Given the description of an element on the screen output the (x, y) to click on. 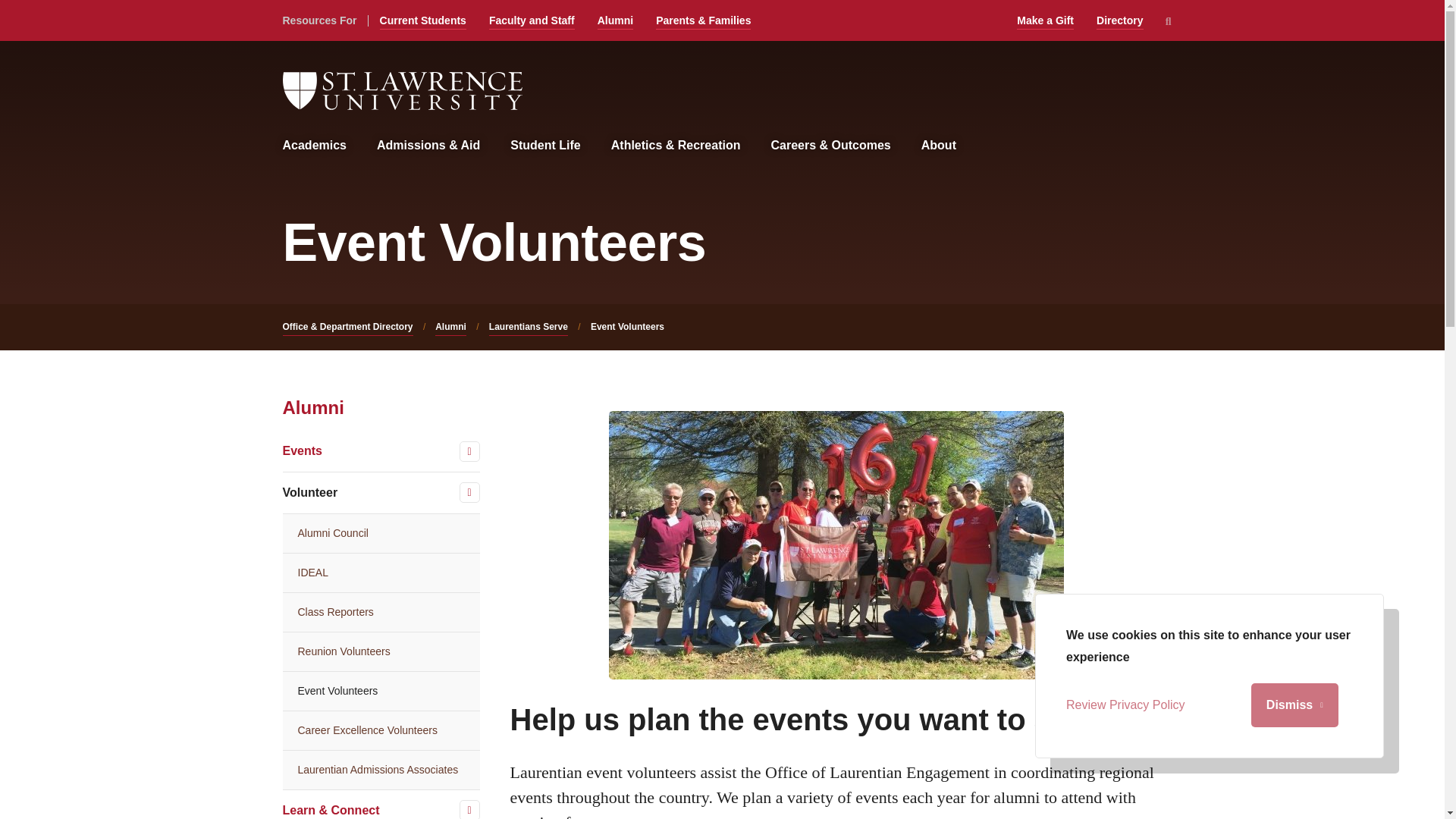
Academics (313, 145)
Open the search panel (1167, 21)
Student Life (545, 145)
Return to the St. Lawrence University Homepage (401, 91)
